Given the description of an element on the screen output the (x, y) to click on. 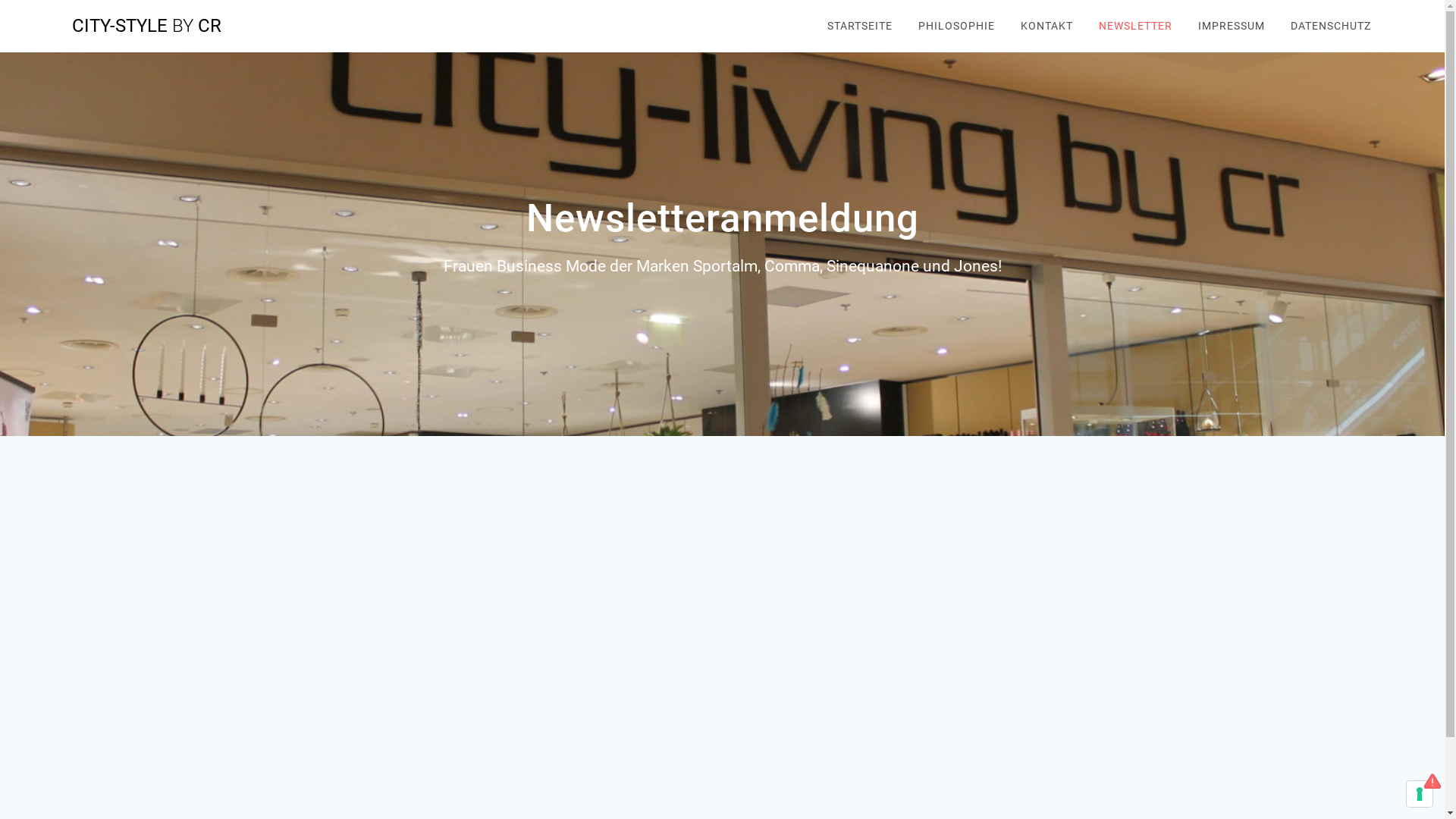
PHILOSOPHIE Element type: text (956, 25)
STARTSEITE Element type: text (859, 25)
NEWSLETTER Element type: text (1135, 25)
KONTAKT Element type: text (1046, 25)
CITY-STYLE BY CR Element type: text (146, 25)
IMPRESSUM Element type: text (1231, 25)
DATENSCHUTZ Element type: text (1330, 25)
